Given the description of an element on the screen output the (x, y) to click on. 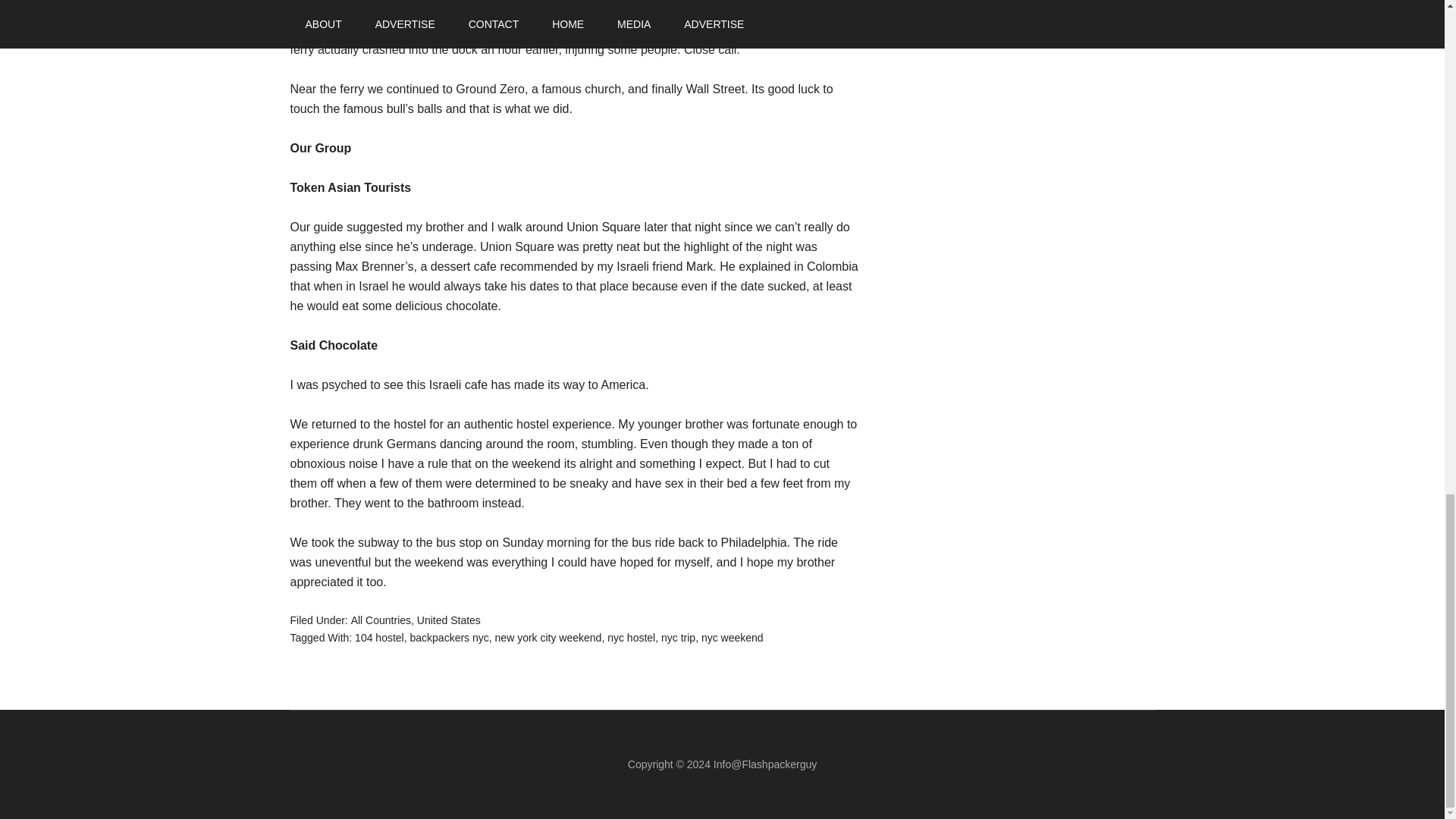
nyc hostel (631, 636)
new york city weekend (548, 636)
All Countries (380, 620)
backpackers nyc (448, 636)
nyc weekend (731, 636)
United States (448, 620)
104 hostel (379, 636)
nyc trip (678, 636)
